Given the description of an element on the screen output the (x, y) to click on. 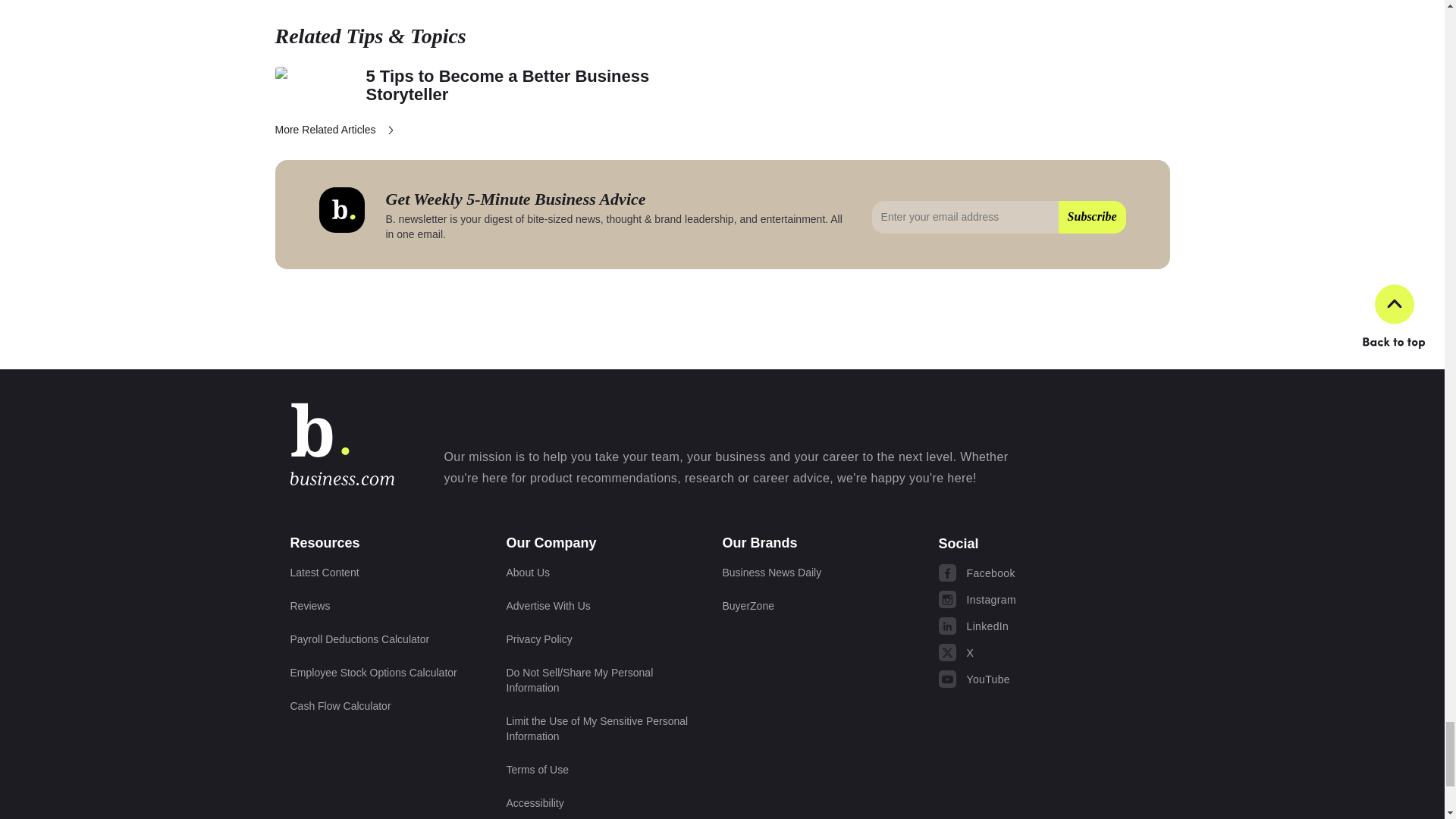
Arrow (390, 130)
